Given the description of an element on the screen output the (x, y) to click on. 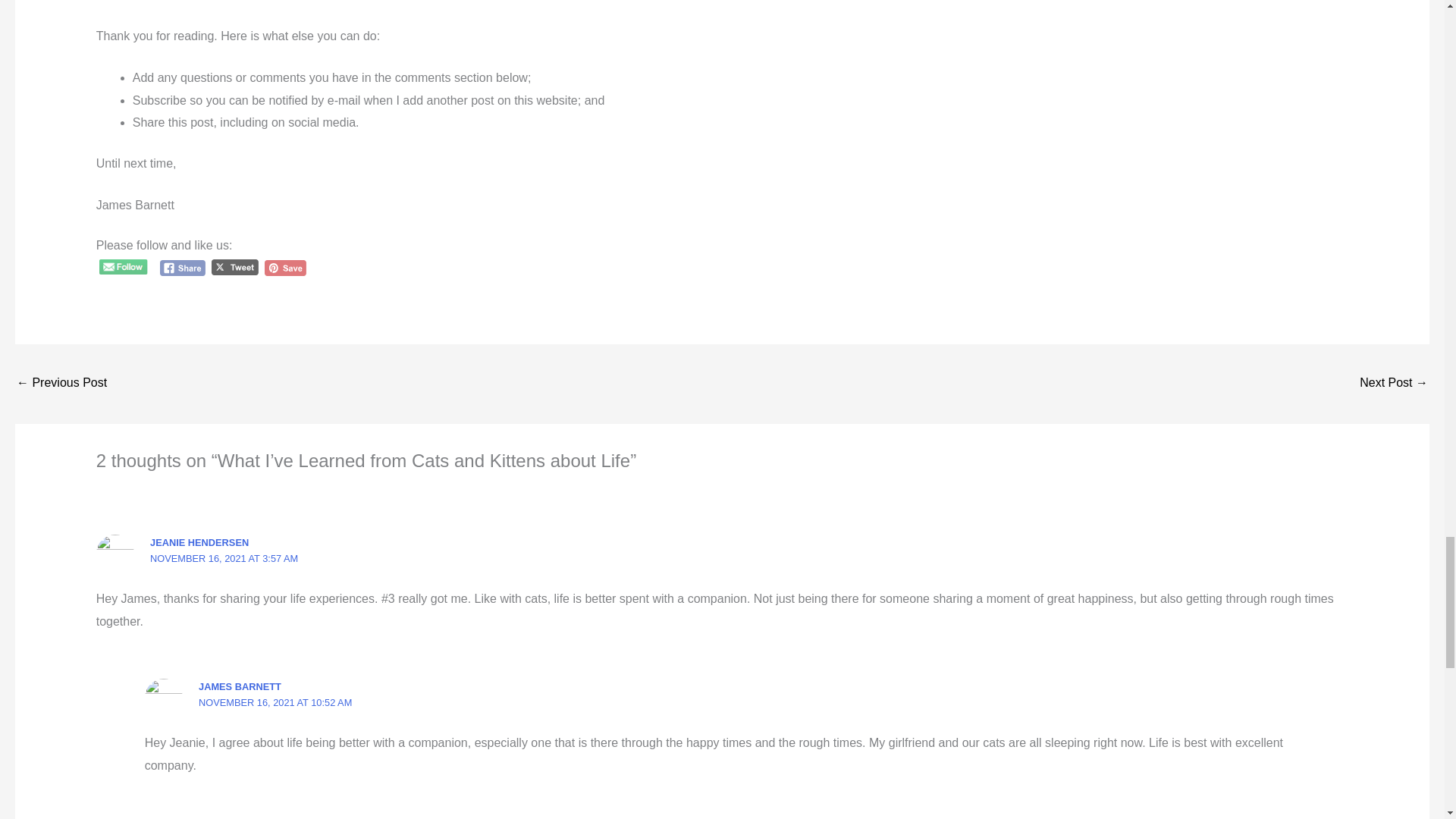
JAMES BARNETT (239, 686)
We're Still Here to Live Another Day (1393, 384)
What Is Speaking About: An Introvert's Perspective (61, 384)
JEANIE HENDERSEN (198, 542)
Tweet (235, 267)
NOVEMBER 16, 2021 AT 3:57 AM (223, 558)
Pin Share (284, 268)
Facebook Share (183, 268)
NOVEMBER 16, 2021 AT 10:52 AM (275, 702)
